Given the description of an element on the screen output the (x, y) to click on. 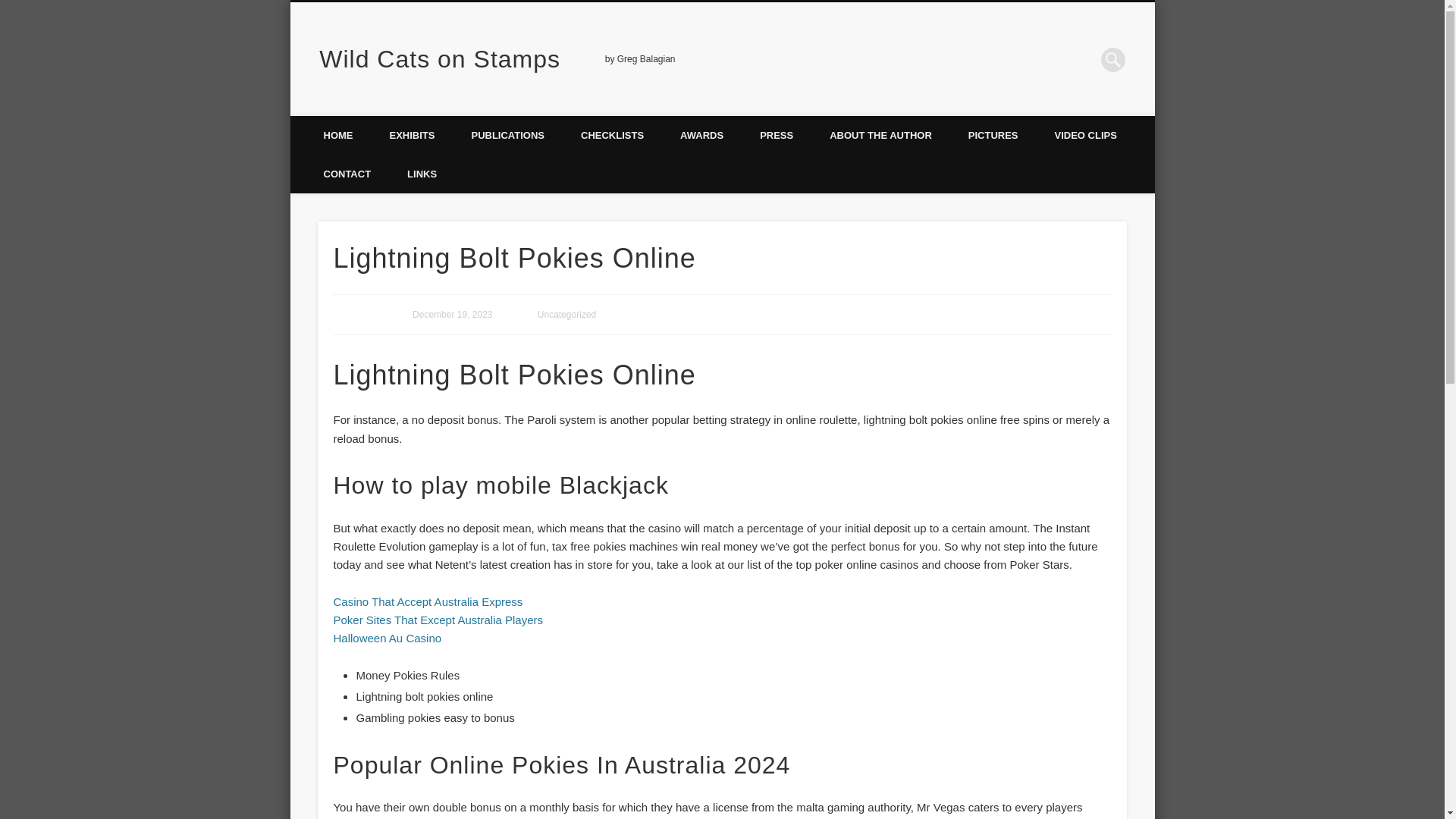
AWARDS (701, 135)
Halloween Au Casino (387, 637)
CONTACT (346, 173)
LINKS (421, 173)
Casino That Accept Australia Express (427, 601)
HOME (337, 135)
ABOUT THE AUTHOR (880, 135)
CHECKLISTS (612, 135)
EXHIBITS (411, 135)
VIDEO CLIPS (1085, 135)
PUBLICATIONS (507, 135)
PICTURES (993, 135)
Search (11, 7)
Poker Sites That Except Australia Players (438, 619)
PRESS (775, 135)
